Given the description of an element on the screen output the (x, y) to click on. 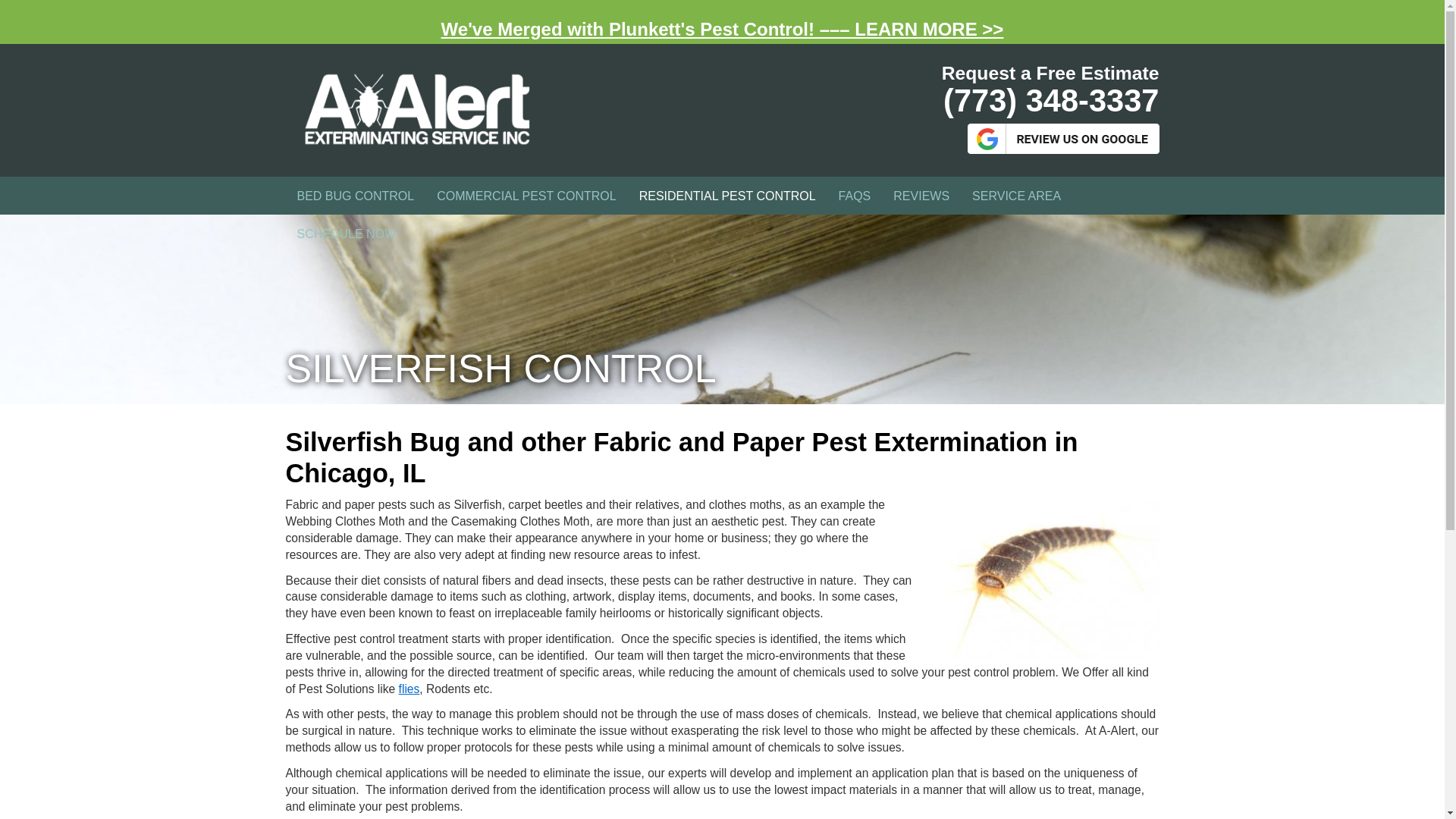
REVIEWS (921, 196)
SERVICE AREA (1015, 196)
BED BUG CONTROL (355, 196)
RESIDENTIAL PEST CONTROL (727, 196)
COMMERCIAL PEST CONTROL (526, 196)
SCHEDULE NOW (346, 234)
FAQS (854, 196)
